Given the description of an element on the screen output the (x, y) to click on. 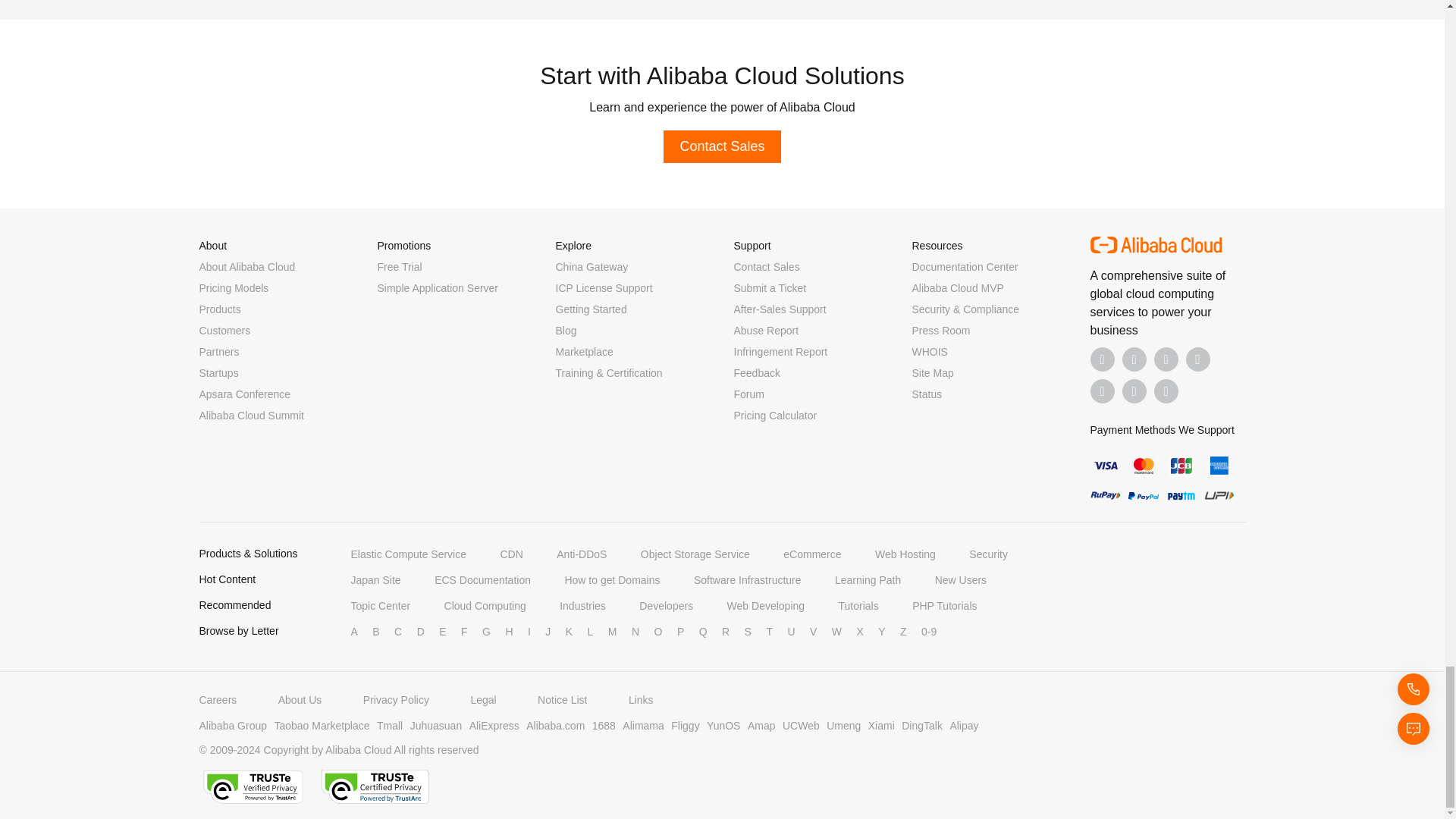
YouTube (1197, 359)
Twitter (1165, 359)
TikTok (1102, 391)
Call Us Now (1165, 391)
Linkedin (1134, 359)
Facebook (1102, 359)
